Given the description of an element on the screen output the (x, y) to click on. 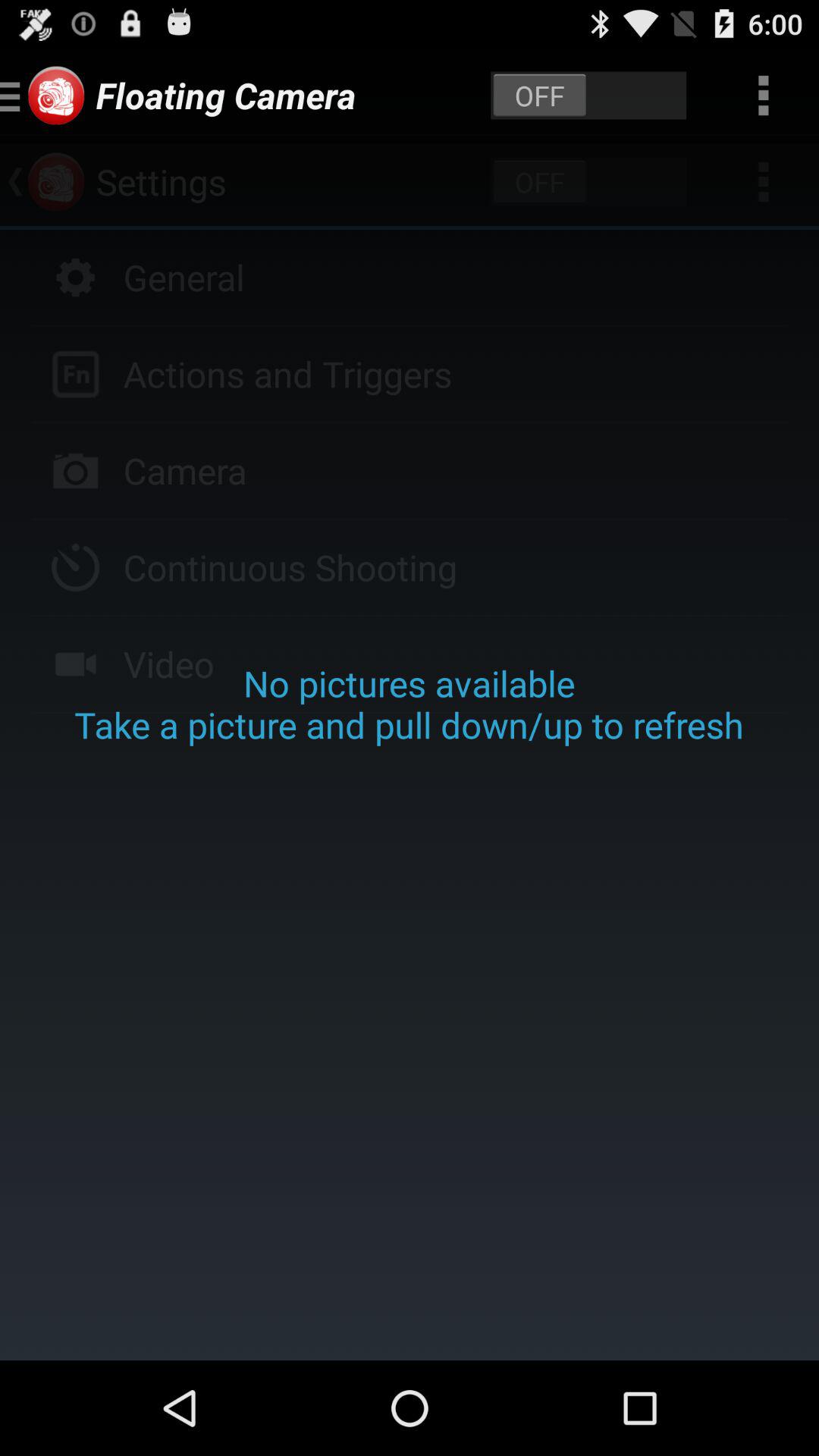
turn on/off floating camera (588, 95)
